Given the description of an element on the screen output the (x, y) to click on. 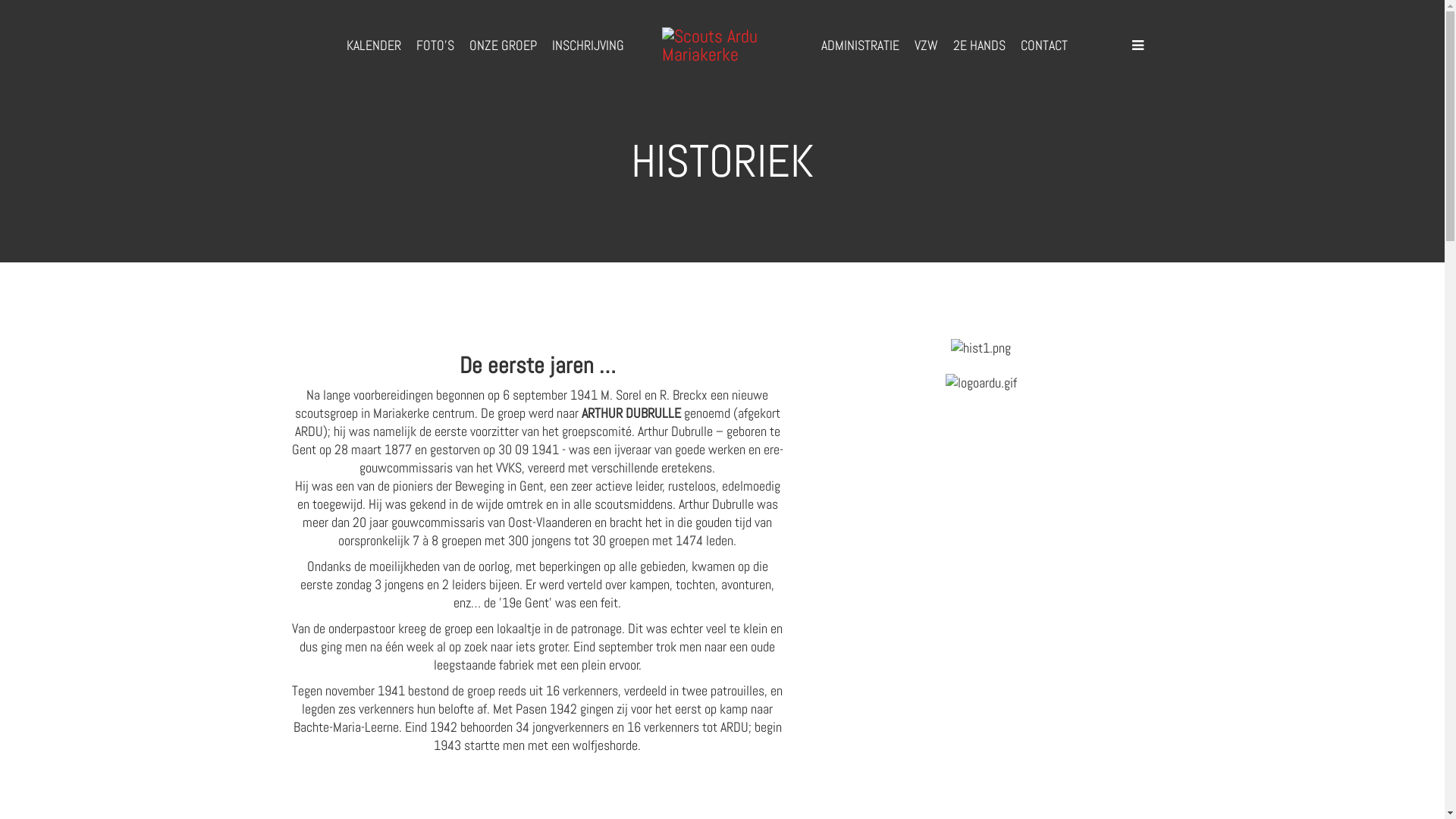
KALENDER Element type: text (372, 45)
ADMINISTRATIE Element type: text (859, 45)
ONZE GROEP Element type: text (502, 45)
INSCHRIJVING Element type: text (588, 45)
VZW Element type: text (926, 45)
2E HANDS Element type: text (978, 45)
FOTO'S Element type: text (434, 45)
CONTACT Element type: text (1043, 45)
